Given the description of an element on the screen output the (x, y) to click on. 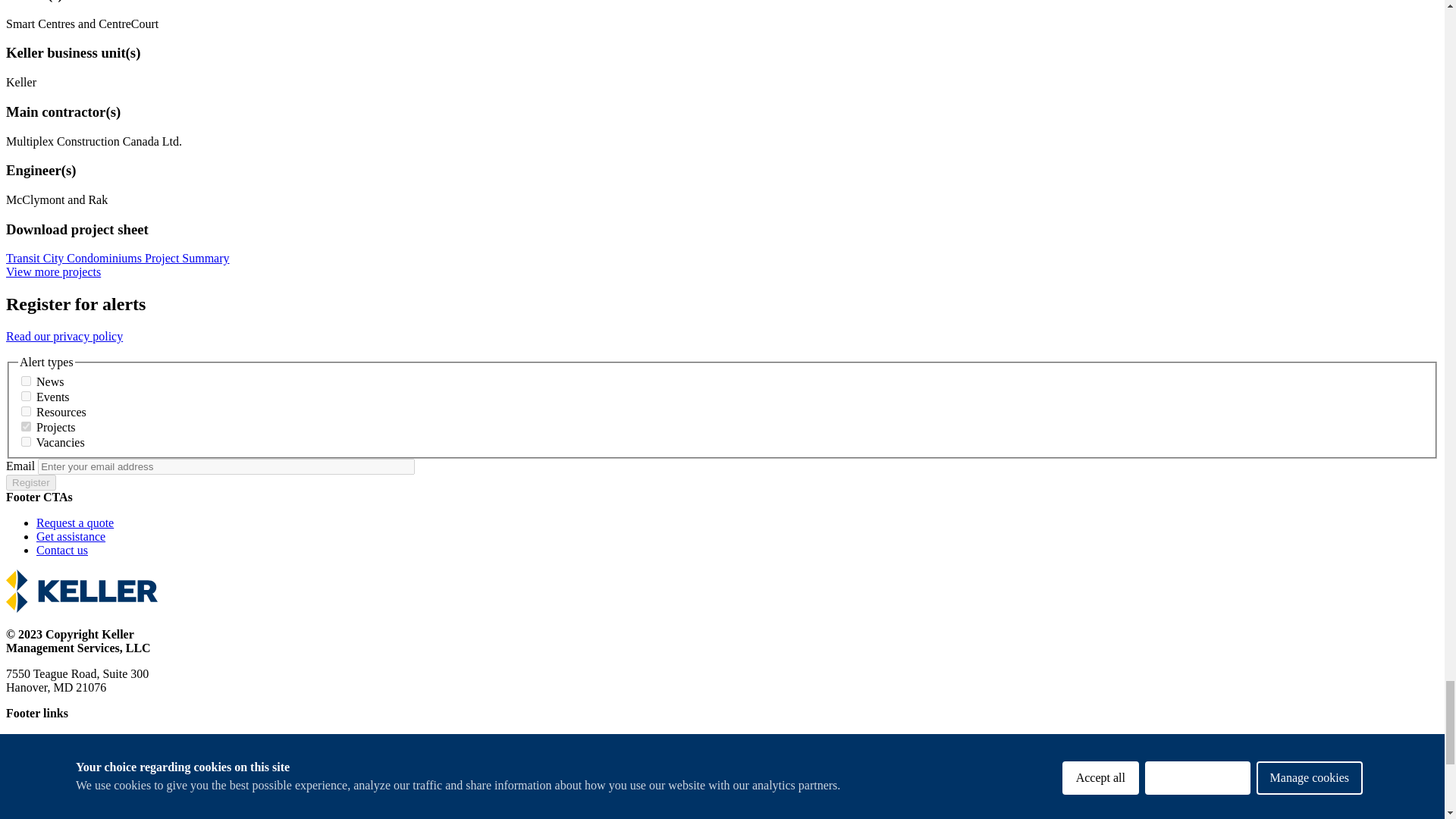
news (25, 380)
events (25, 396)
resources (25, 411)
projects (25, 426)
Register (30, 482)
vacancies (25, 441)
